Given the description of an element on the screen output the (x, y) to click on. 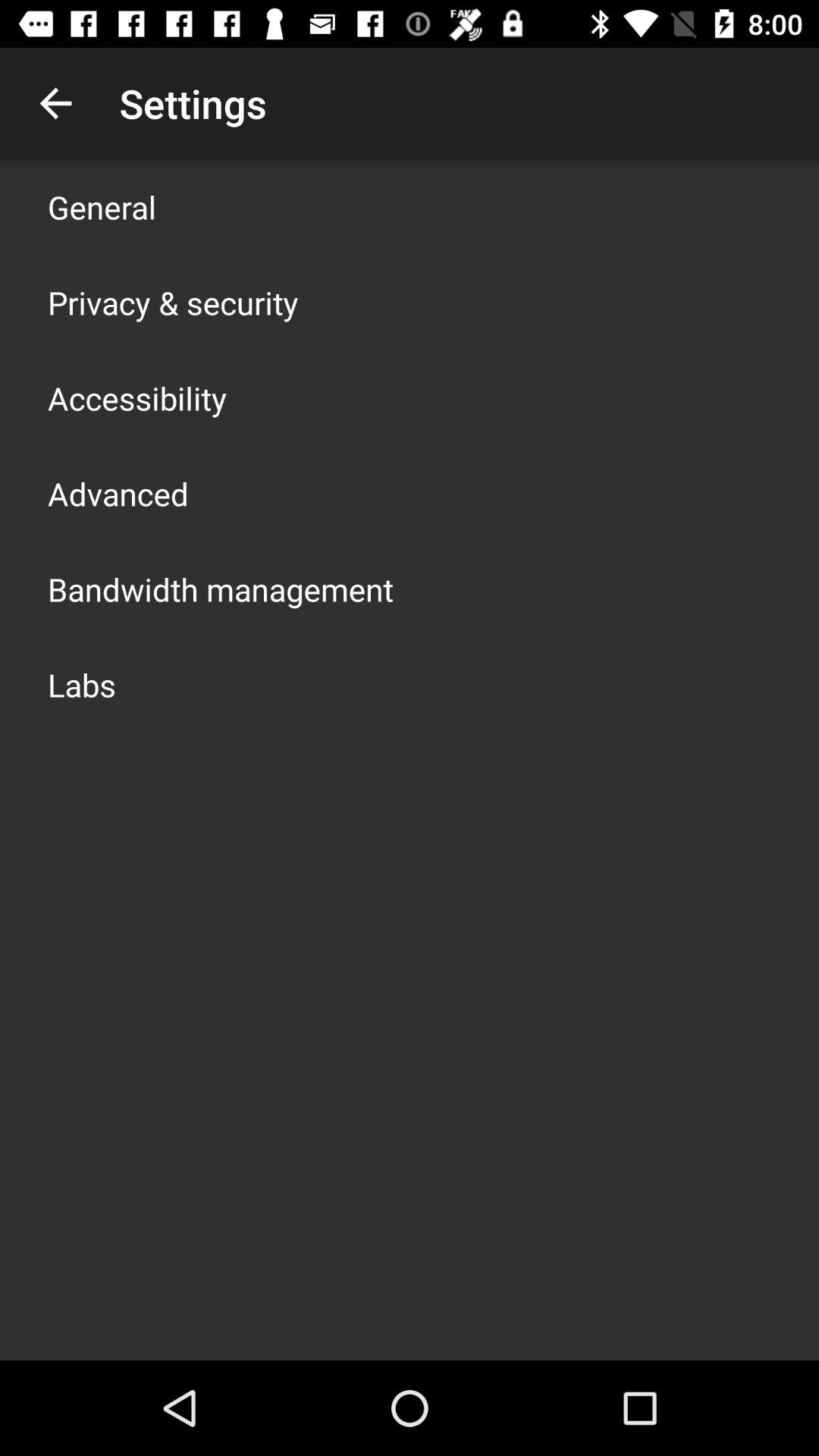
press accessibility icon (136, 397)
